Given the description of an element on the screen output the (x, y) to click on. 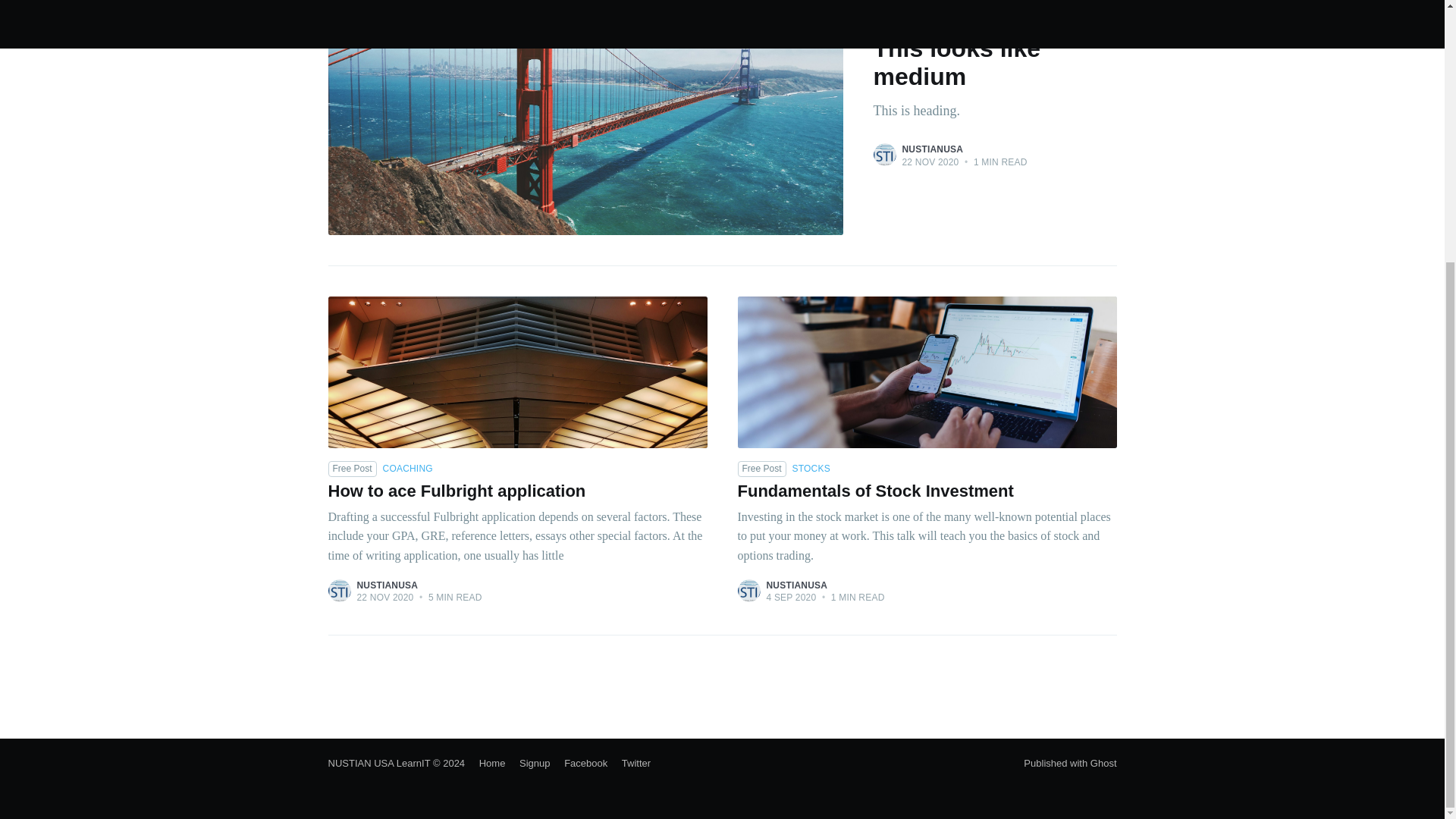
Home (486, 763)
NUSTIANUSA (386, 584)
NUSTIAN USA LearnIT (378, 763)
Ghost (1103, 763)
Twitter (630, 763)
Facebook (580, 763)
NUSTIANUSA (979, 77)
